Given the description of an element on the screen output the (x, y) to click on. 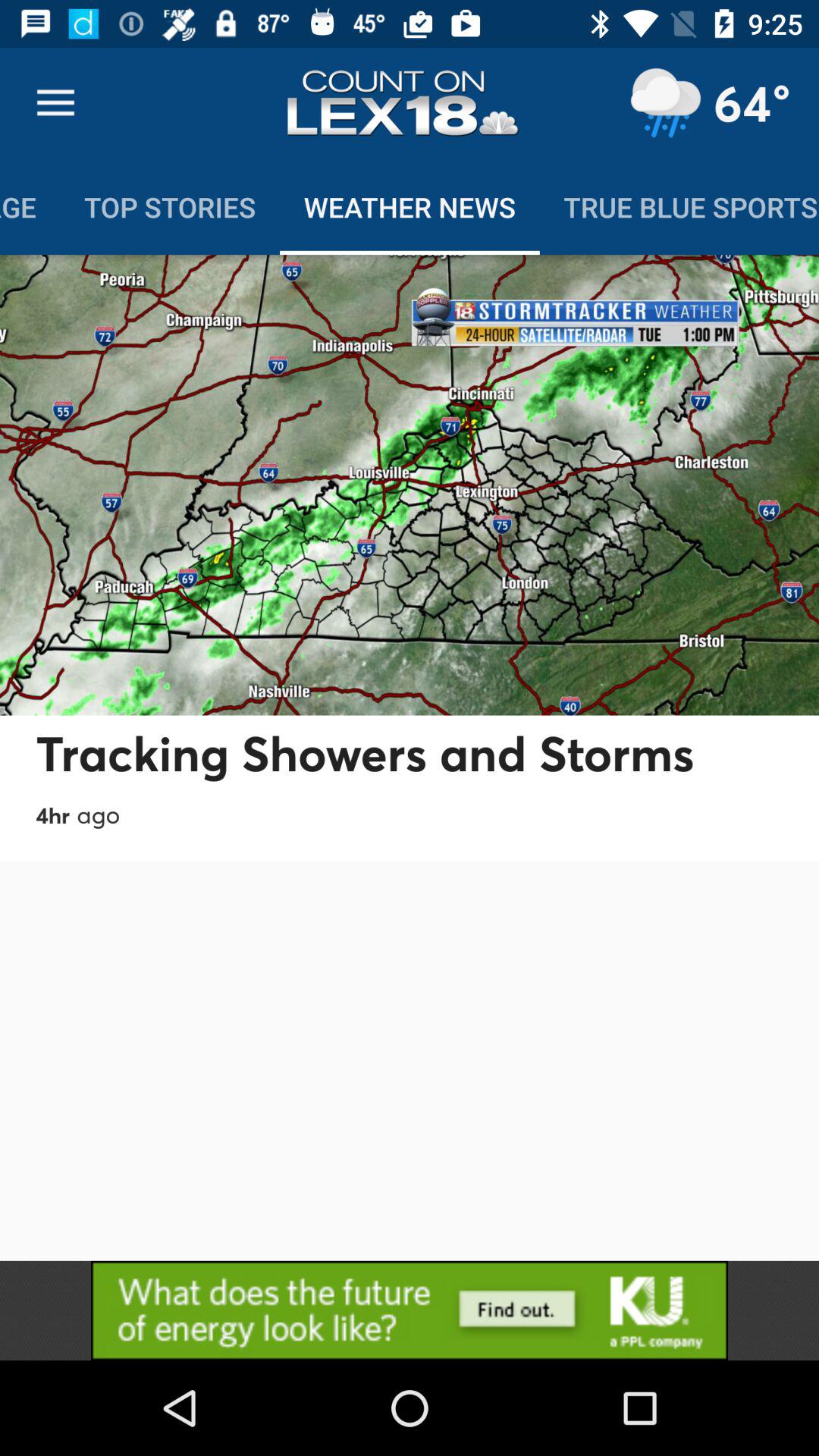
advertisement (409, 1310)
